Given the description of an element on the screen output the (x, y) to click on. 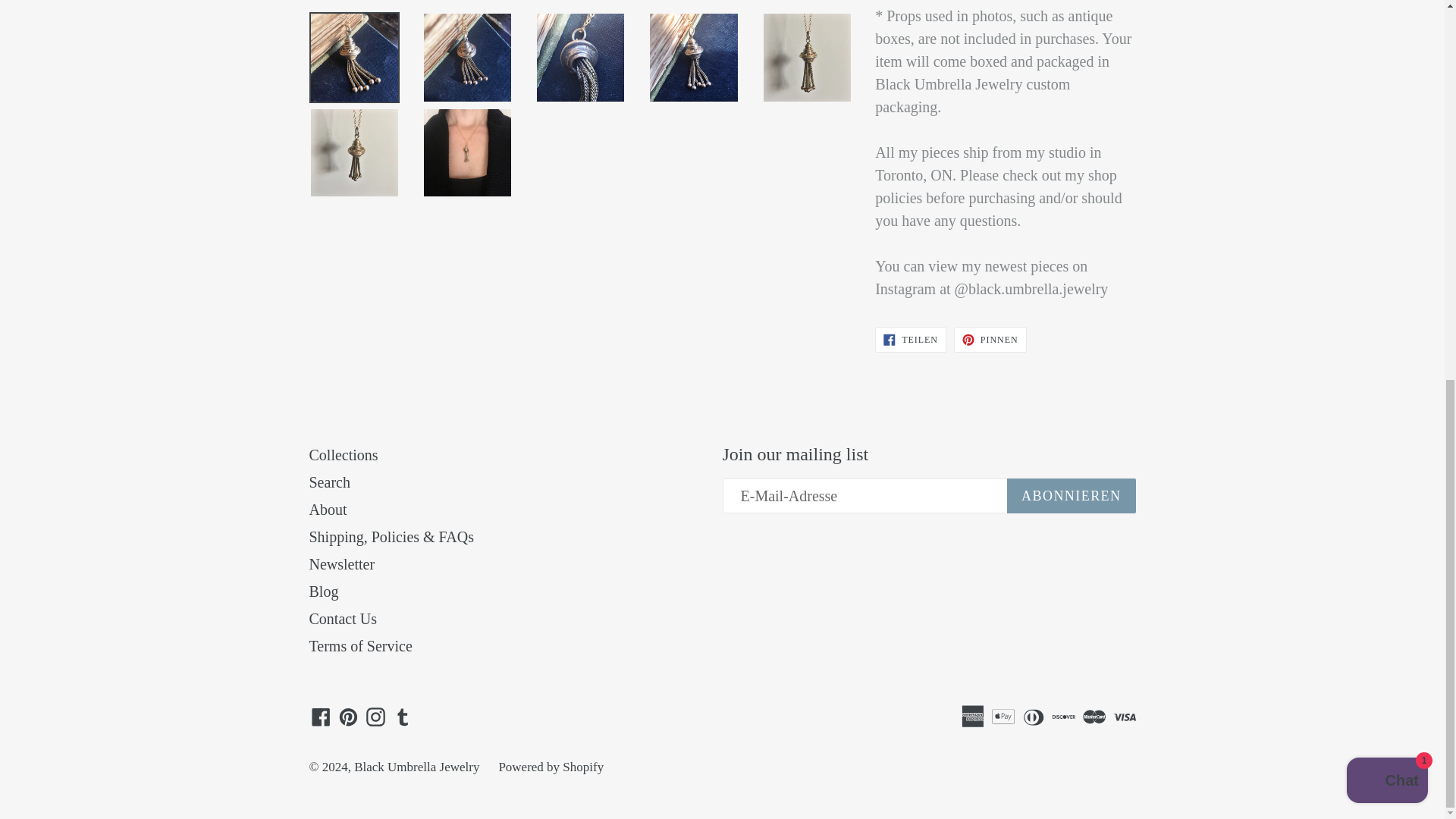
Auf Facebook teilen (910, 339)
Black Umbrella Jewelry auf Instagram (375, 716)
Onlineshop-Chat von Shopify (1387, 77)
Black Umbrella Jewelry auf Pinterest (347, 716)
Black Umbrella Jewelry auf Facebook (320, 716)
Auf Pinterest pinnen (989, 339)
Black Umbrella Jewelry auf Tumblr (402, 716)
